Given the description of an element on the screen output the (x, y) to click on. 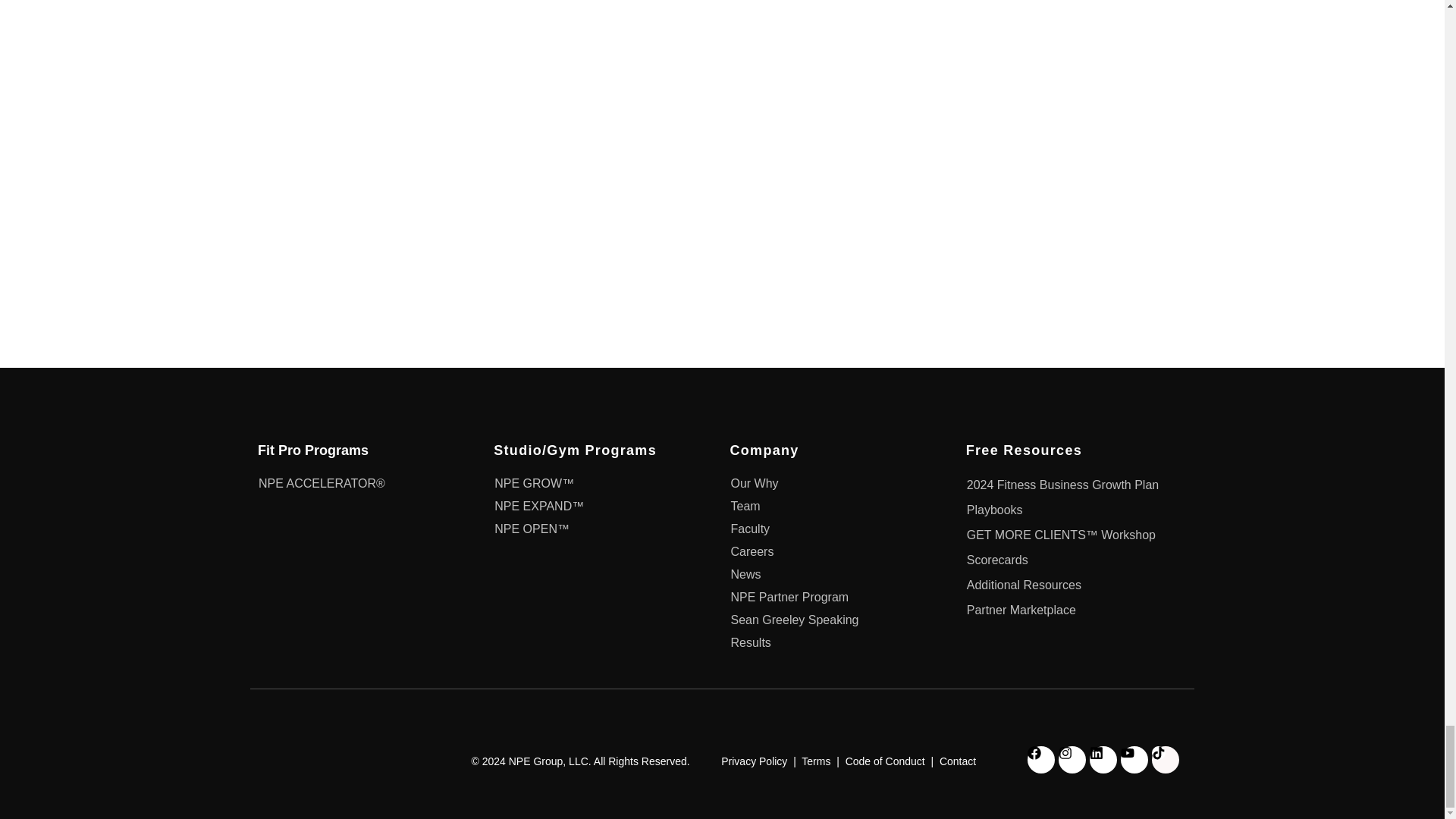
Our Why (833, 483)
Faculty (833, 528)
NPE Partner Program (833, 597)
Team (833, 506)
Sean Greeley Speaking (833, 620)
News (833, 574)
Results (833, 642)
Careers (833, 551)
